Given the description of an element on the screen output the (x, y) to click on. 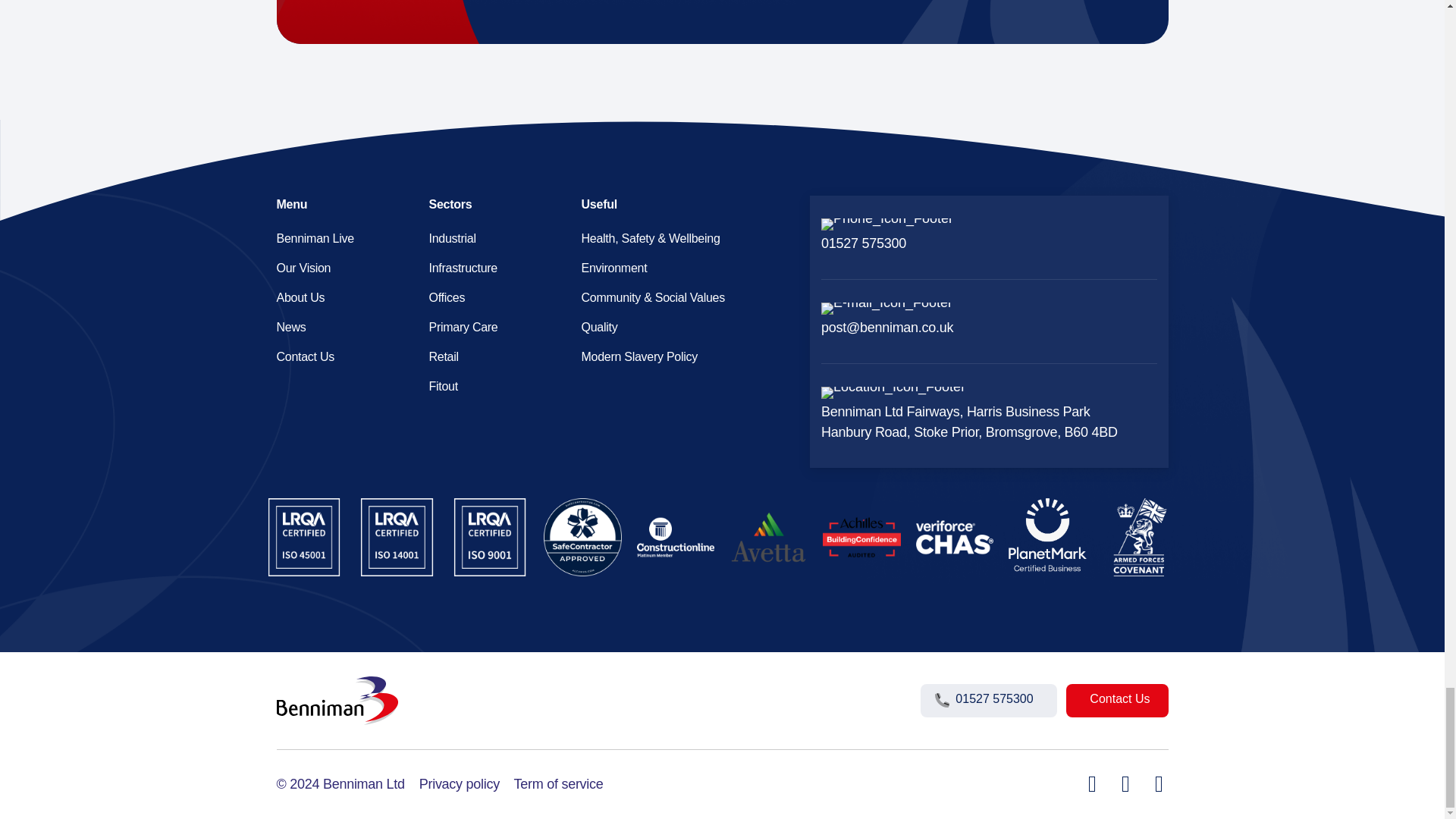
chas white (954, 536)
achilles (861, 536)
News (341, 326)
About Us (341, 297)
armed forces white (1140, 536)
safe contractor (582, 536)
Industrial (494, 237)
Benniman Live (341, 237)
BLACK-2 (1047, 535)
Contact Us (341, 356)
14001 white (396, 536)
avetta (768, 536)
Our Vision (341, 267)
45001 (303, 536)
